Given the description of an element on the screen output the (x, y) to click on. 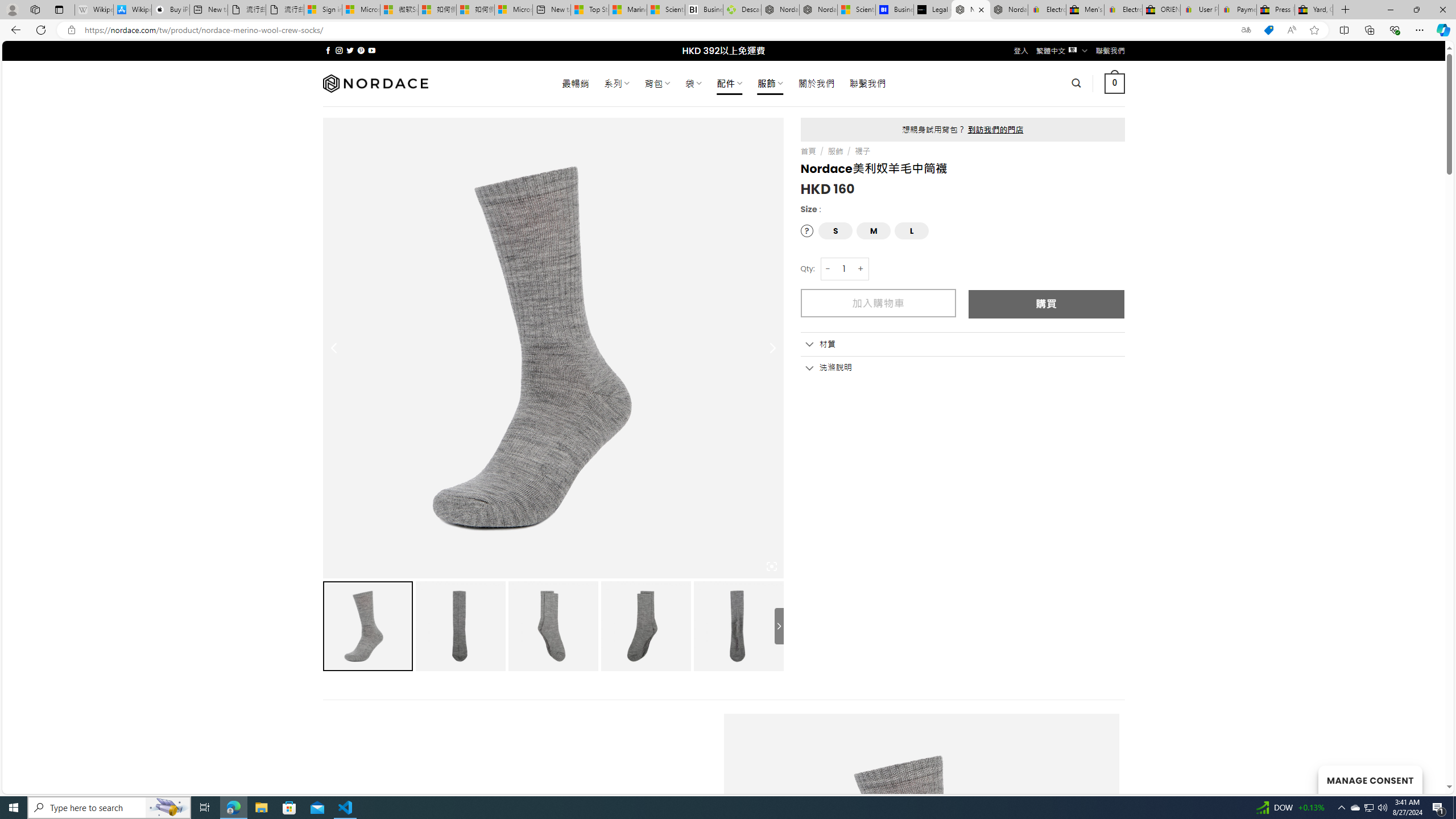
 0  (1115, 83)
